Given the description of an element on the screen output the (x, y) to click on. 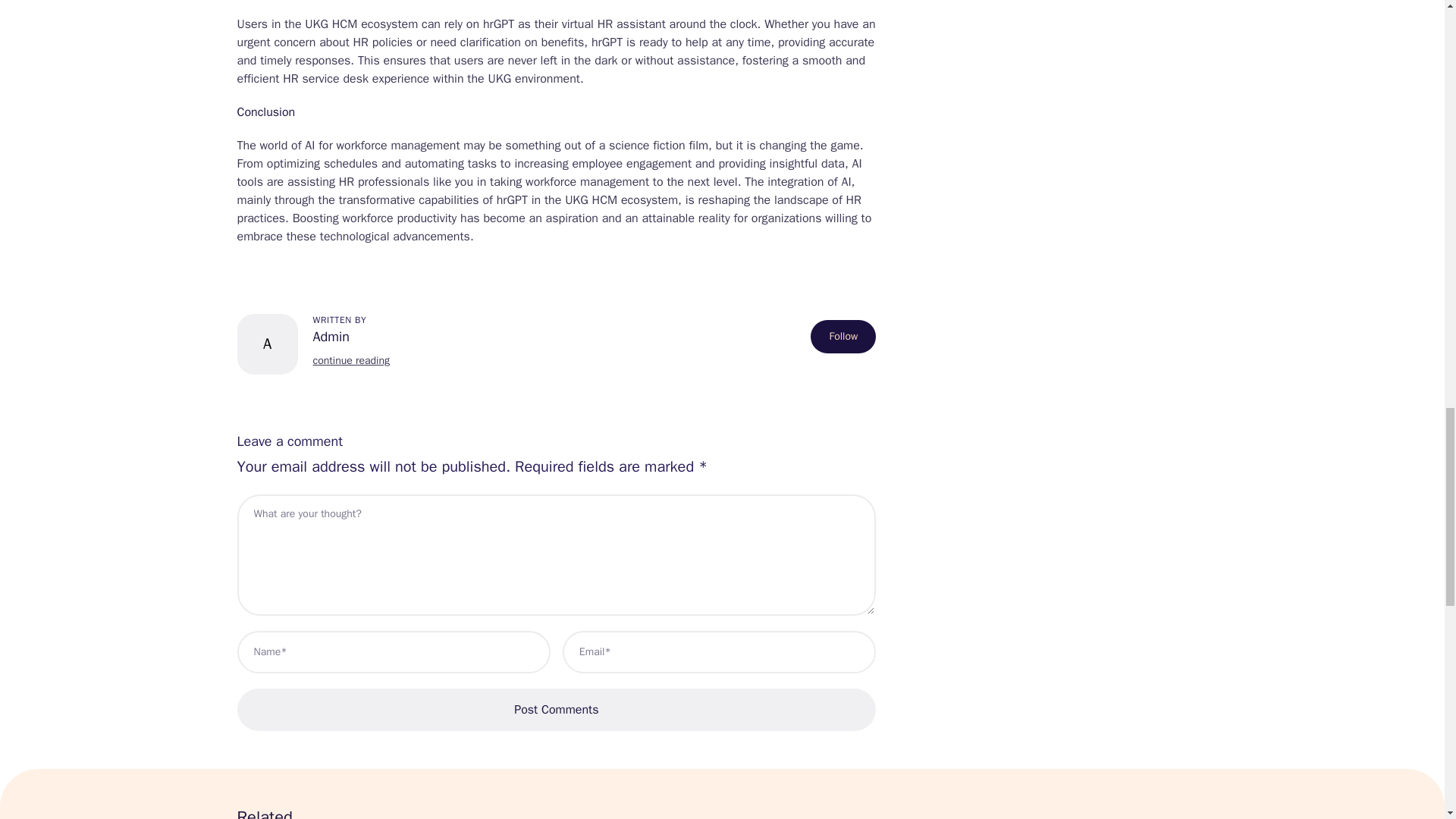
Follow (843, 336)
Post Comments (555, 709)
continue reading (350, 359)
Admin (350, 336)
